Given the description of an element on the screen output the (x, y) to click on. 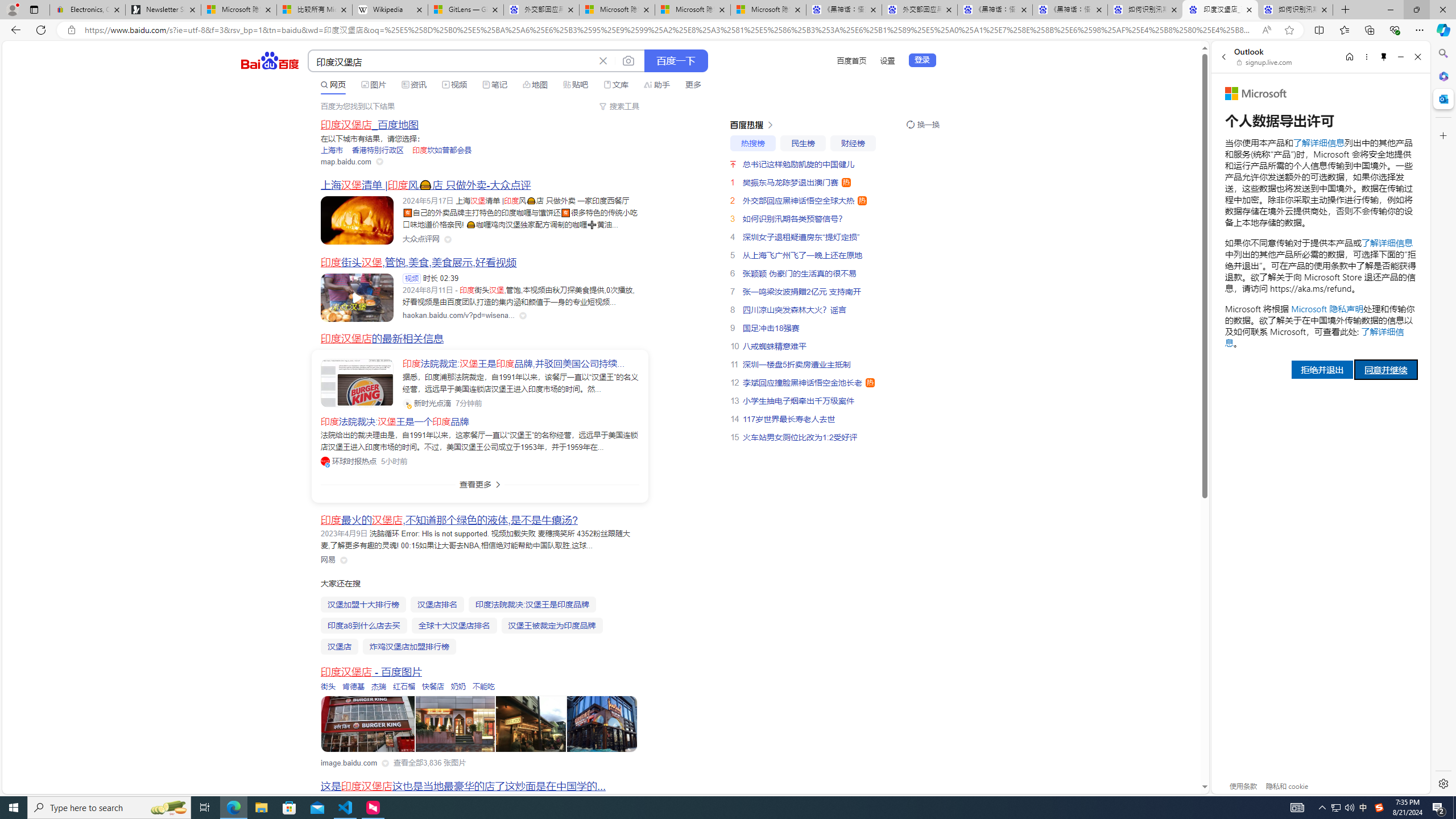
Newsletter Sign Up (162, 9)
